Given the description of an element on the screen output the (x, y) to click on. 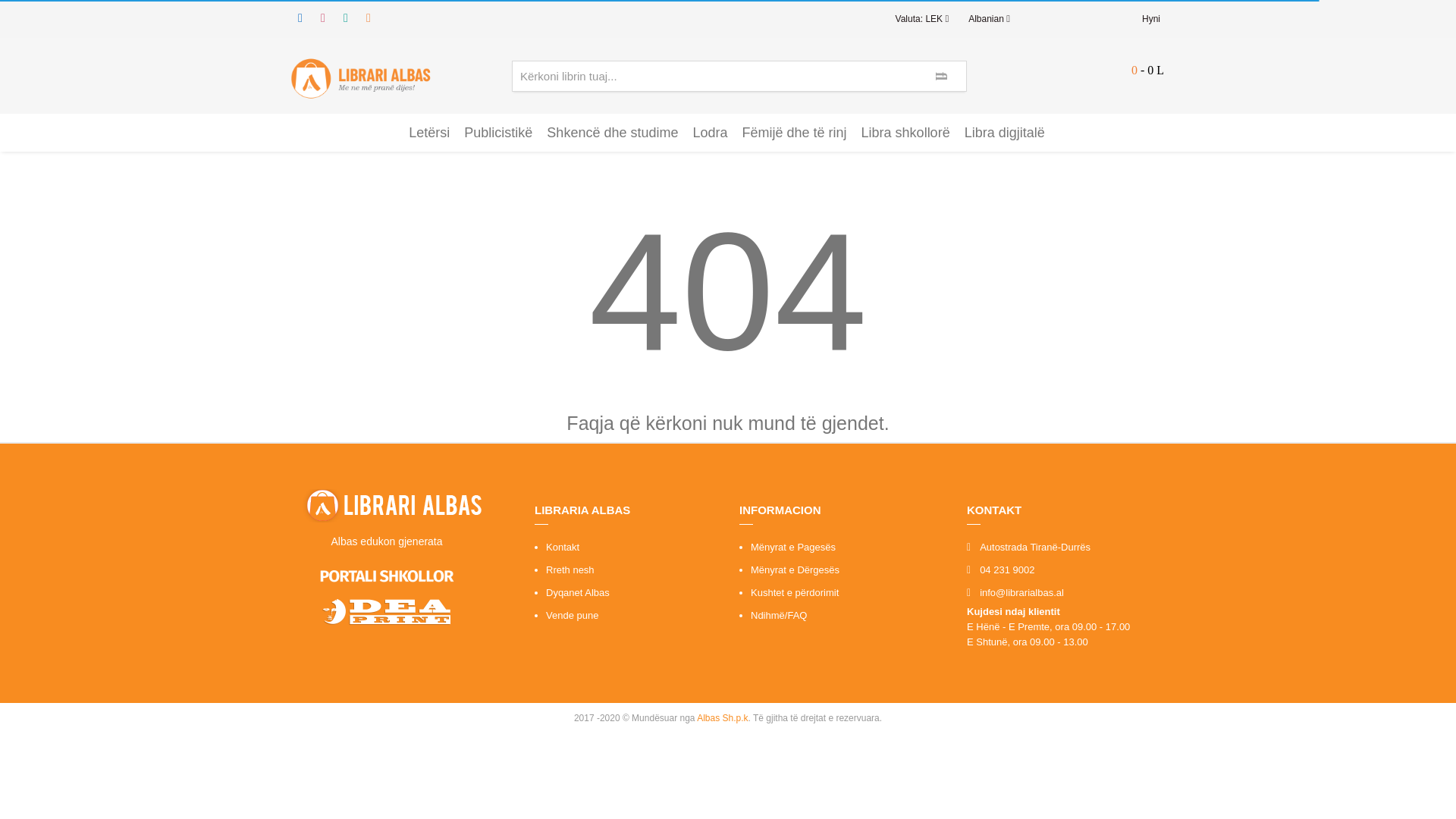
Hyni (1153, 18)
Albanian (989, 18)
Librari Albas (359, 77)
LValuta: LEK (922, 18)
